Given the description of an element on the screen output the (x, y) to click on. 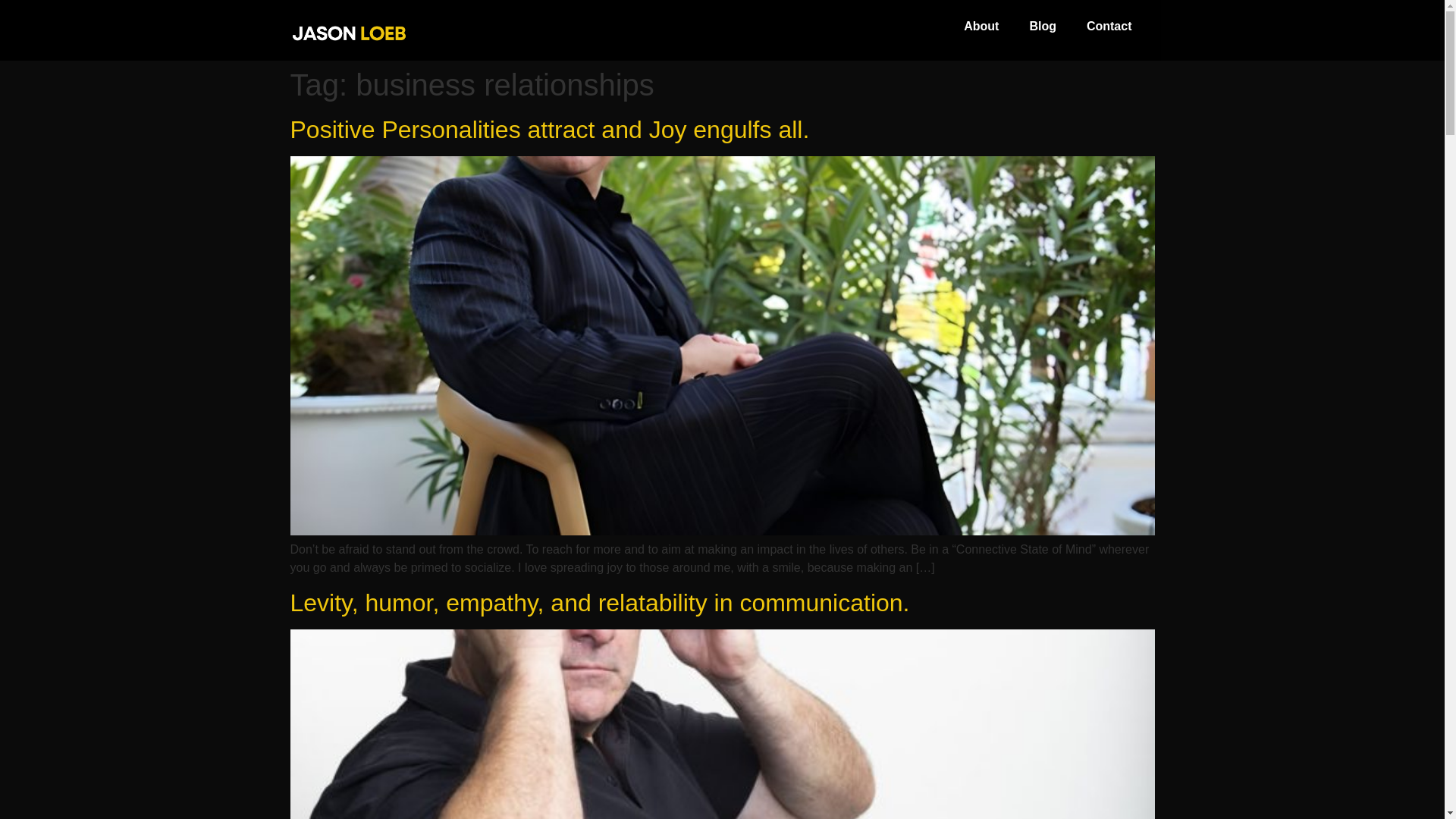
Levity, humor, empathy, and relatability in communication. (598, 602)
Blog (1042, 26)
Positive Personalities attract and Joy engulfs all. (549, 129)
About (981, 26)
Contact (1109, 26)
